Given the description of an element on the screen output the (x, y) to click on. 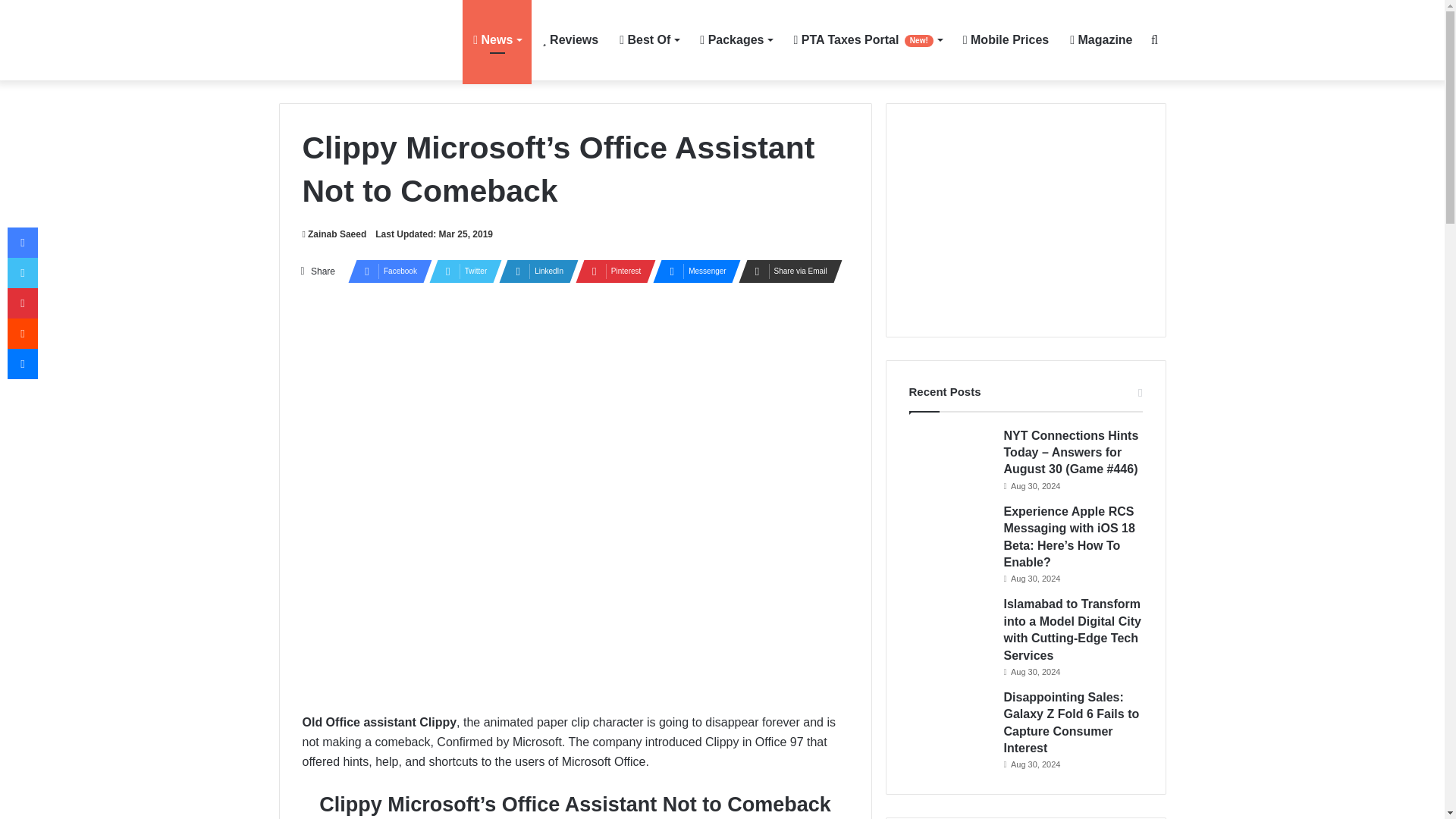
Zainab Saeed (333, 234)
Mobile Prices (1005, 40)
Twitter (461, 271)
PTA Taxes Portal New! (867, 40)
Facebook (385, 271)
Reviews (569, 40)
Packages (735, 40)
LinkedIn (534, 271)
Share via Email (785, 271)
Messenger (692, 271)
